Given the description of an element on the screen output the (x, y) to click on. 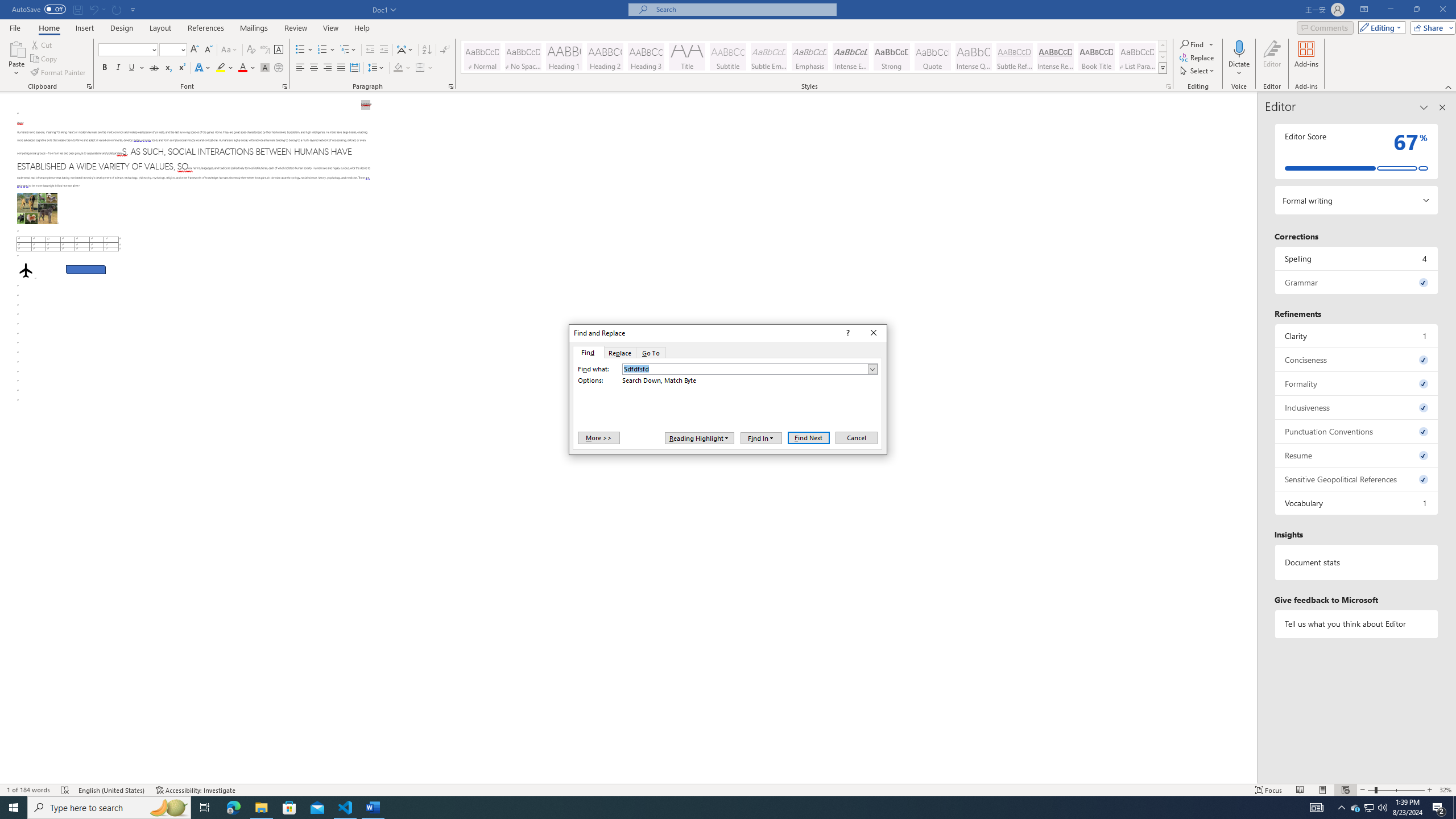
Vocabulary, 1 issue. Press space or enter to review items. (1356, 502)
Cancel (855, 437)
Notification Chevron (1341, 807)
Visual Studio Code - 1 running window (345, 807)
